Given the description of an element on the screen output the (x, y) to click on. 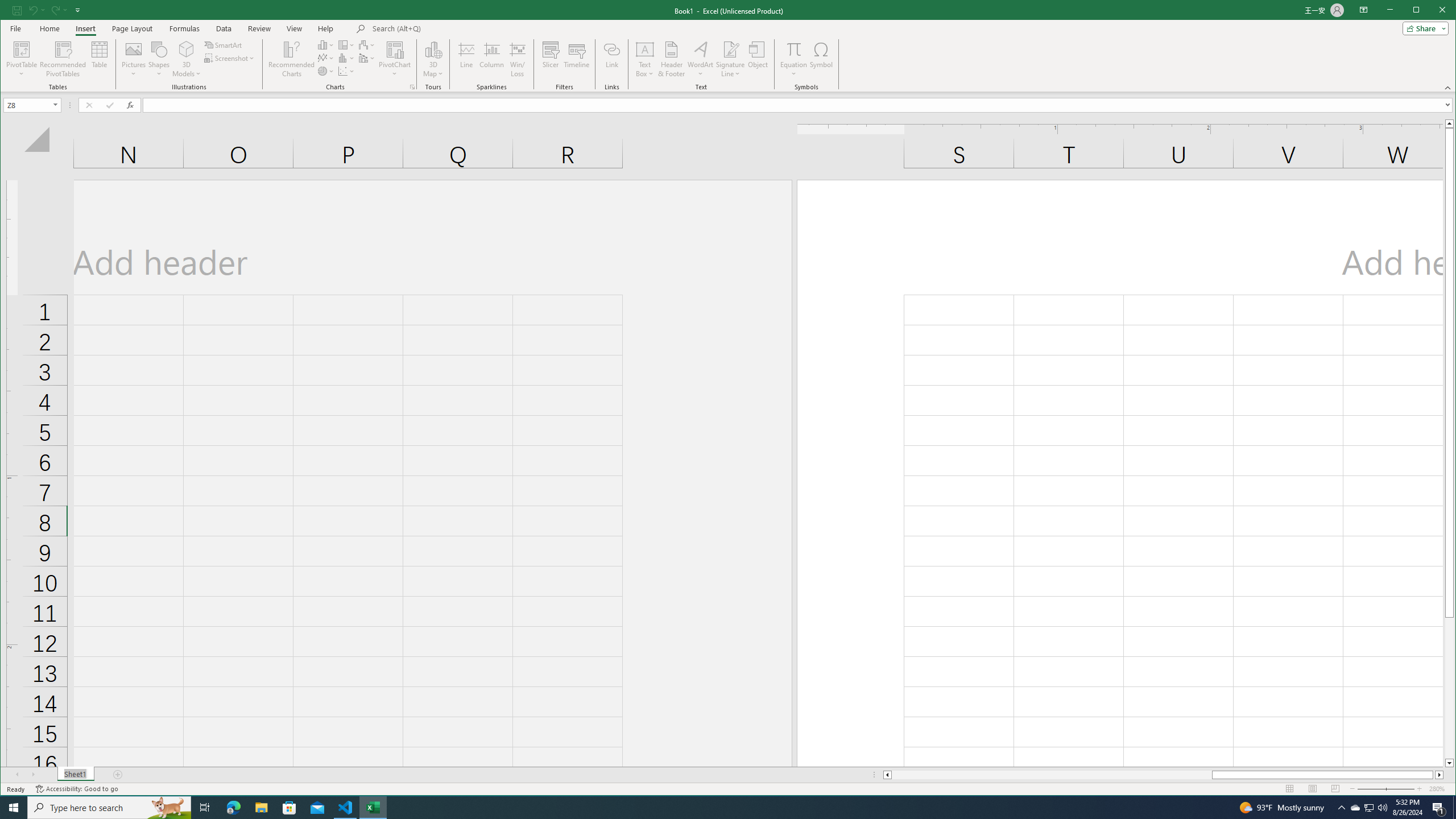
Insert Pie or Doughnut Chart (325, 70)
Microsoft search (451, 28)
Pictures (133, 59)
Text Box (644, 59)
Slicer... (550, 59)
Visual Studio Code - 1 running window (345, 807)
Timeline (576, 59)
